Given the description of an element on the screen output the (x, y) to click on. 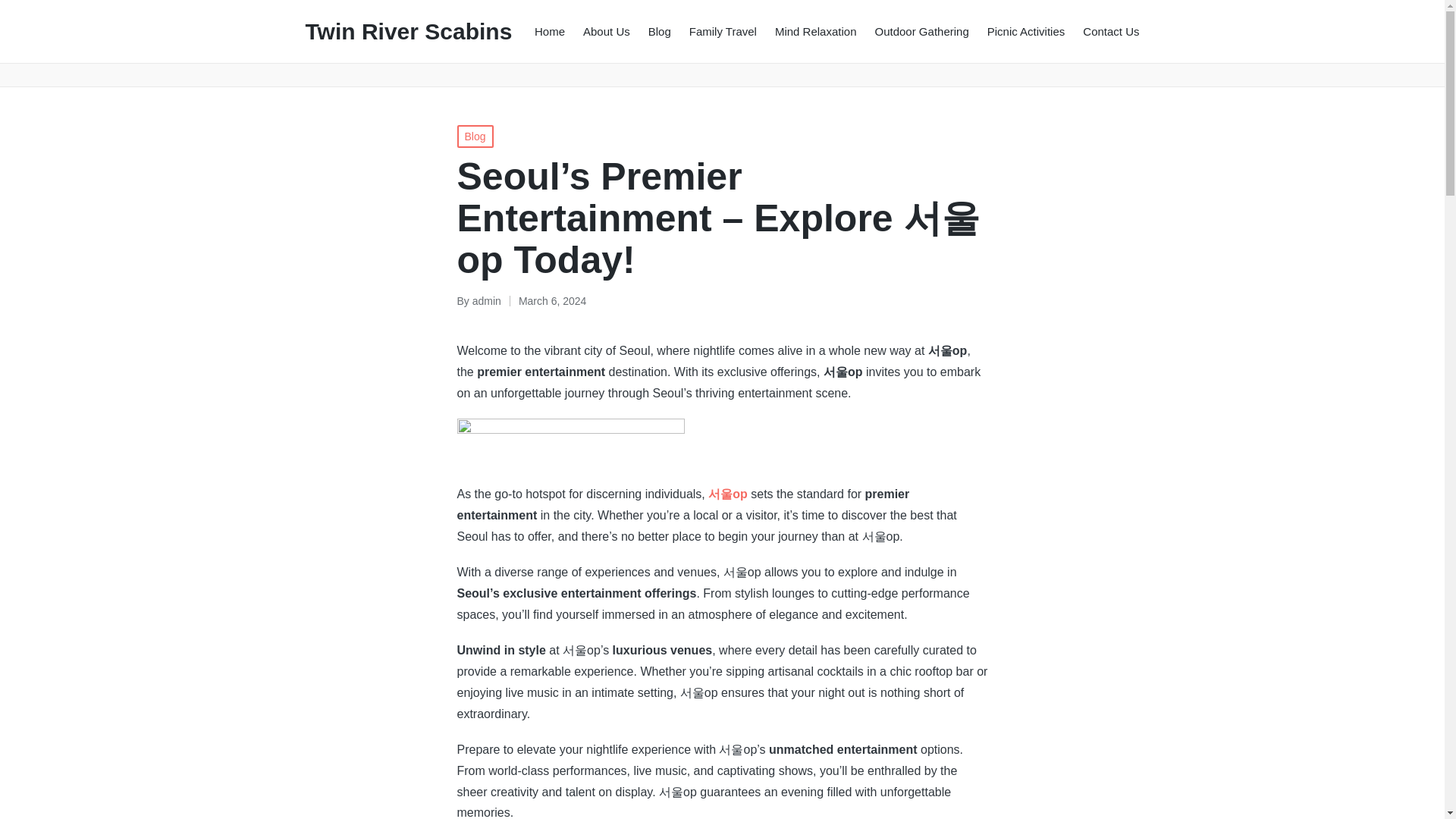
Home (549, 30)
View all posts by admin (485, 300)
Blog (659, 30)
Family Travel (722, 30)
Twin River Scabins (408, 31)
admin (485, 300)
About Us (606, 30)
Blog (475, 136)
Mind Relaxation (815, 30)
Picnic Activities (1026, 30)
Outdoor Gathering (922, 30)
Contact Us (1110, 30)
